Given the description of an element on the screen output the (x, y) to click on. 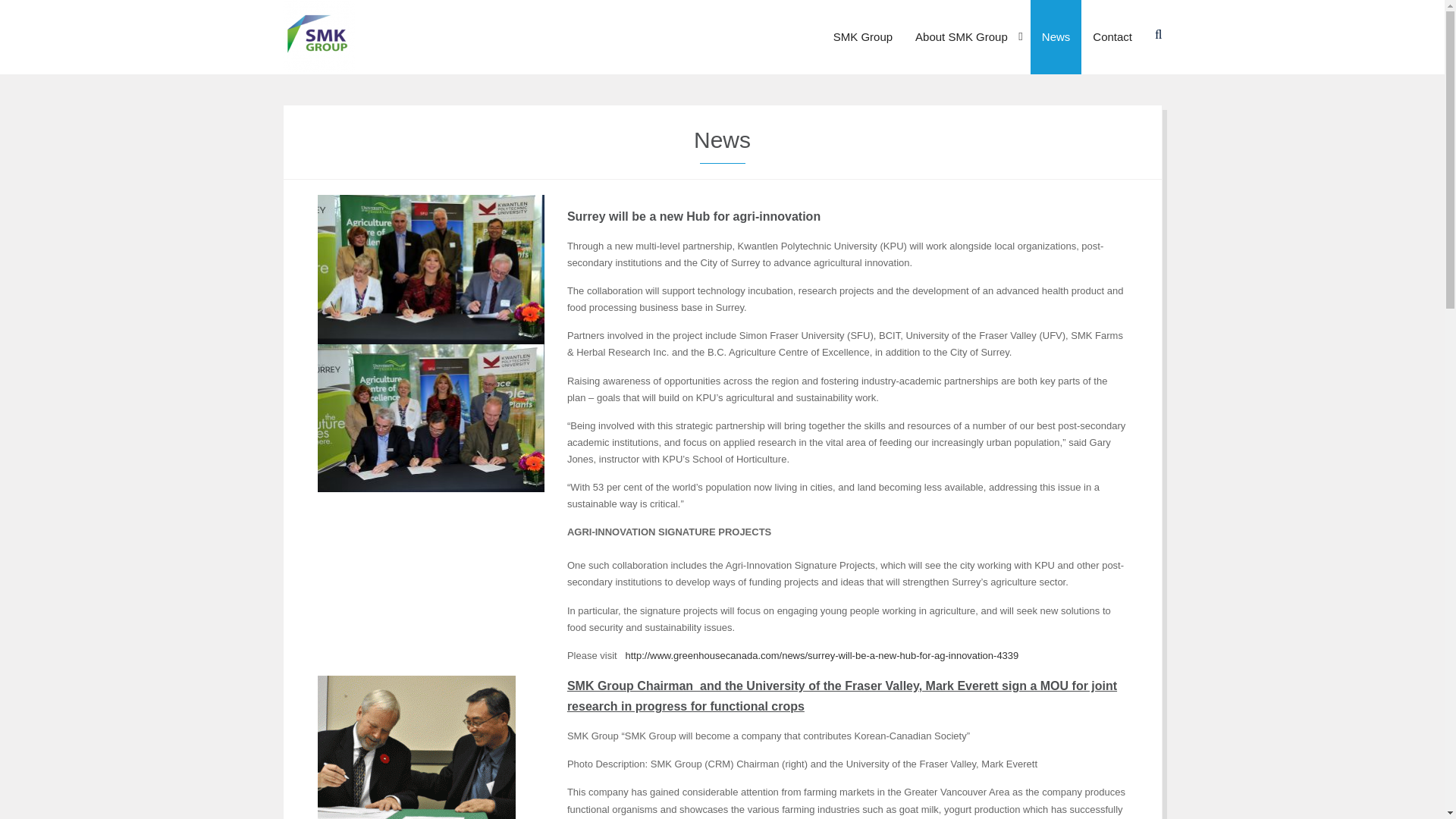
About SMK Group (967, 37)
SMK Group (863, 37)
